Given the description of an element on the screen output the (x, y) to click on. 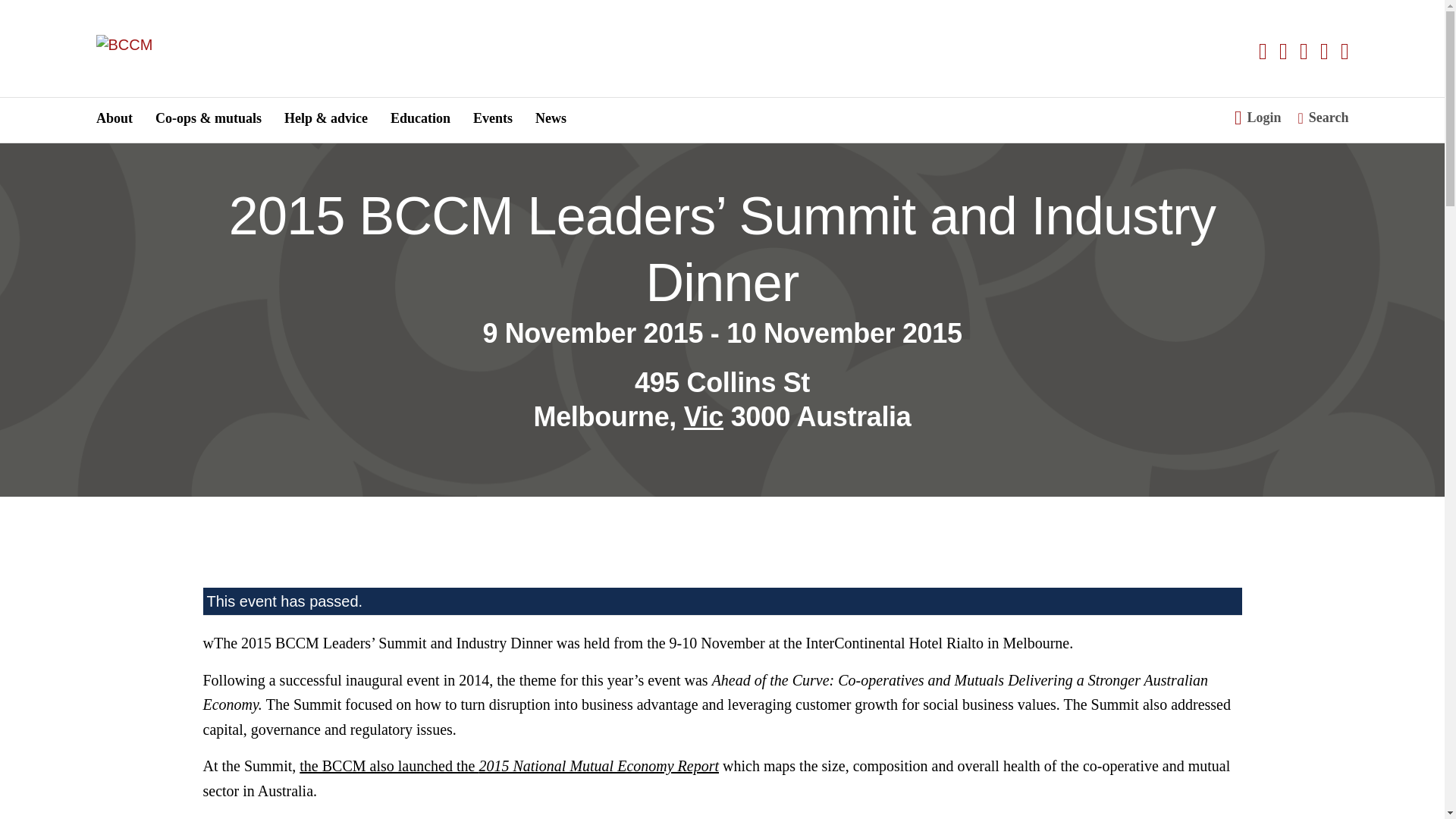
Search (1323, 118)
Login (1257, 120)
Education (419, 120)
